Given the description of an element on the screen output the (x, y) to click on. 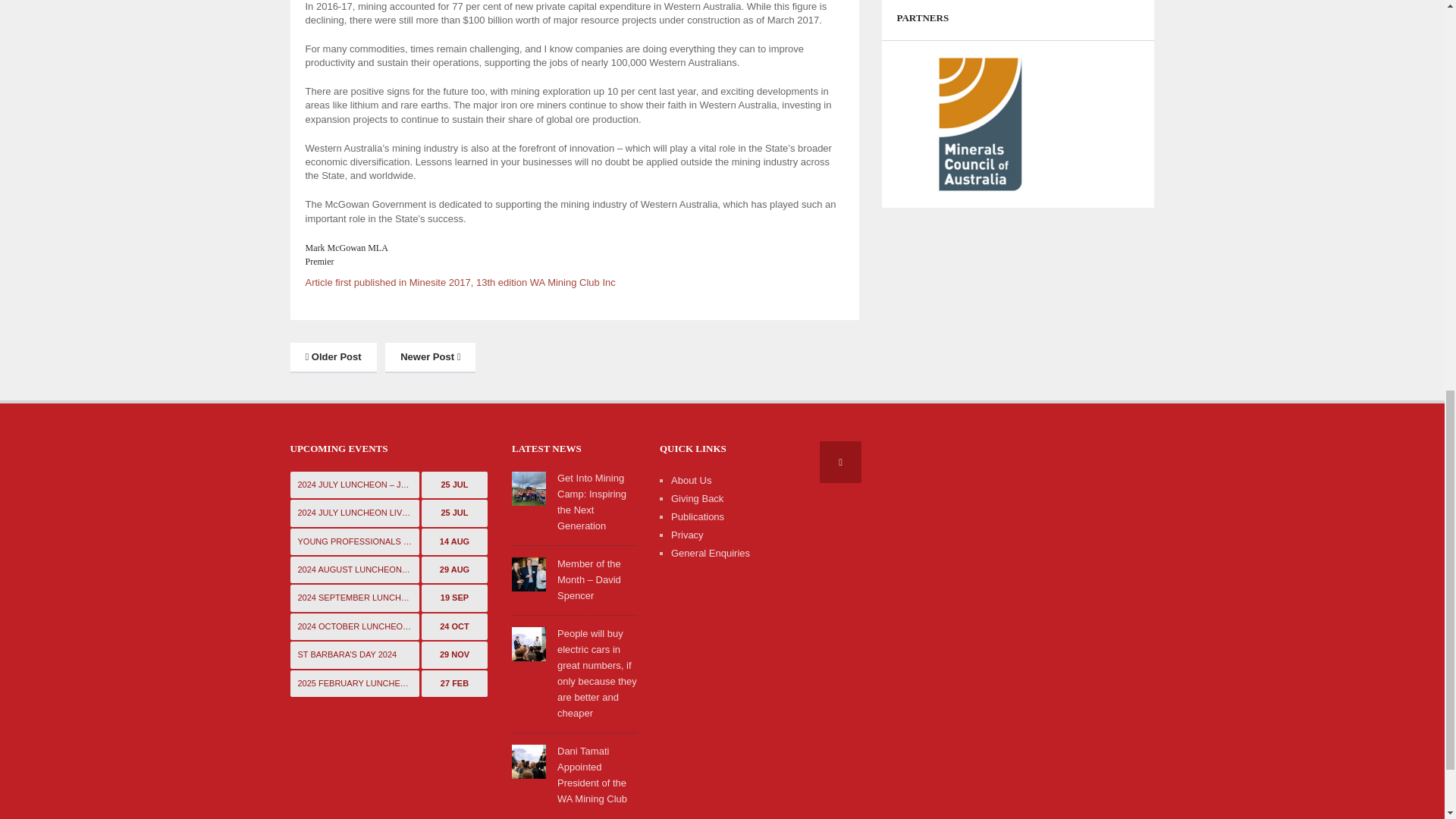
Dani Tamati Appointed President of the WA Mining Club (529, 760)
Get Into Mining Camp: Inspiring the Next Generation (529, 487)
